Given the description of an element on the screen output the (x, y) to click on. 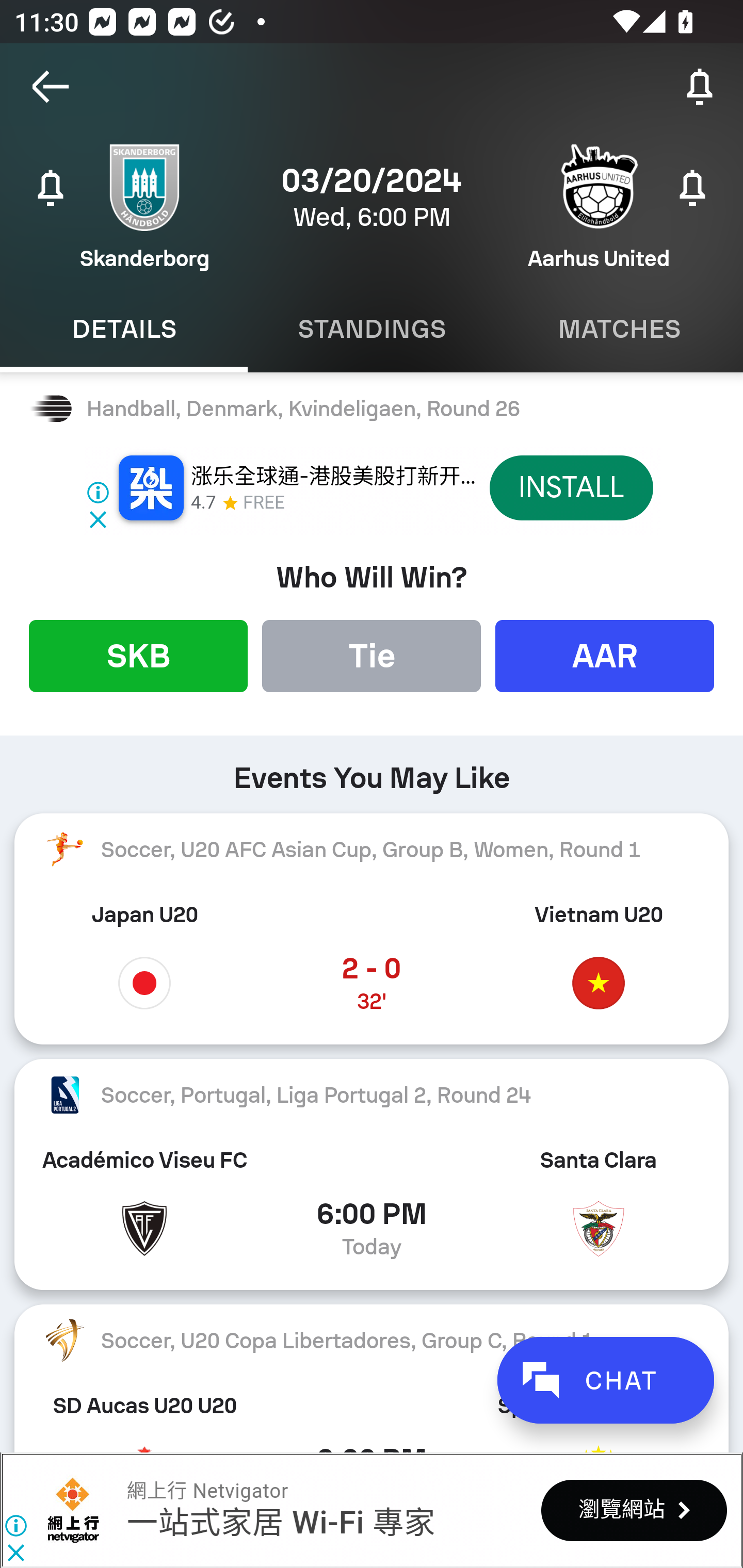
Navigate up (50, 86)
Standings STANDINGS (371, 329)
Matches MATCHES (619, 329)
Handball, Denmark, Kvindeligaen, Round 26 (371, 409)
INSTALL (570, 487)
涨乐全球通-港股美股打新开… (333, 476)
SKB (137, 655)
Tie (371, 655)
AAR (604, 655)
Events You May Like (371, 770)
Soccer, U20 AFC Asian Cup, Group B, Women, Round 1 (371, 849)
Soccer, Portugal, Liga Portugal 2, Round 24 (371, 1094)
CHAT (605, 1380)
網上行 Netvigator (73, 1510)
網上行 Netvigator (206, 1491)
瀏覽網站 (634, 1509)
一站式家居 Wi-Fi 專家 (279, 1522)
